Given the description of an element on the screen output the (x, y) to click on. 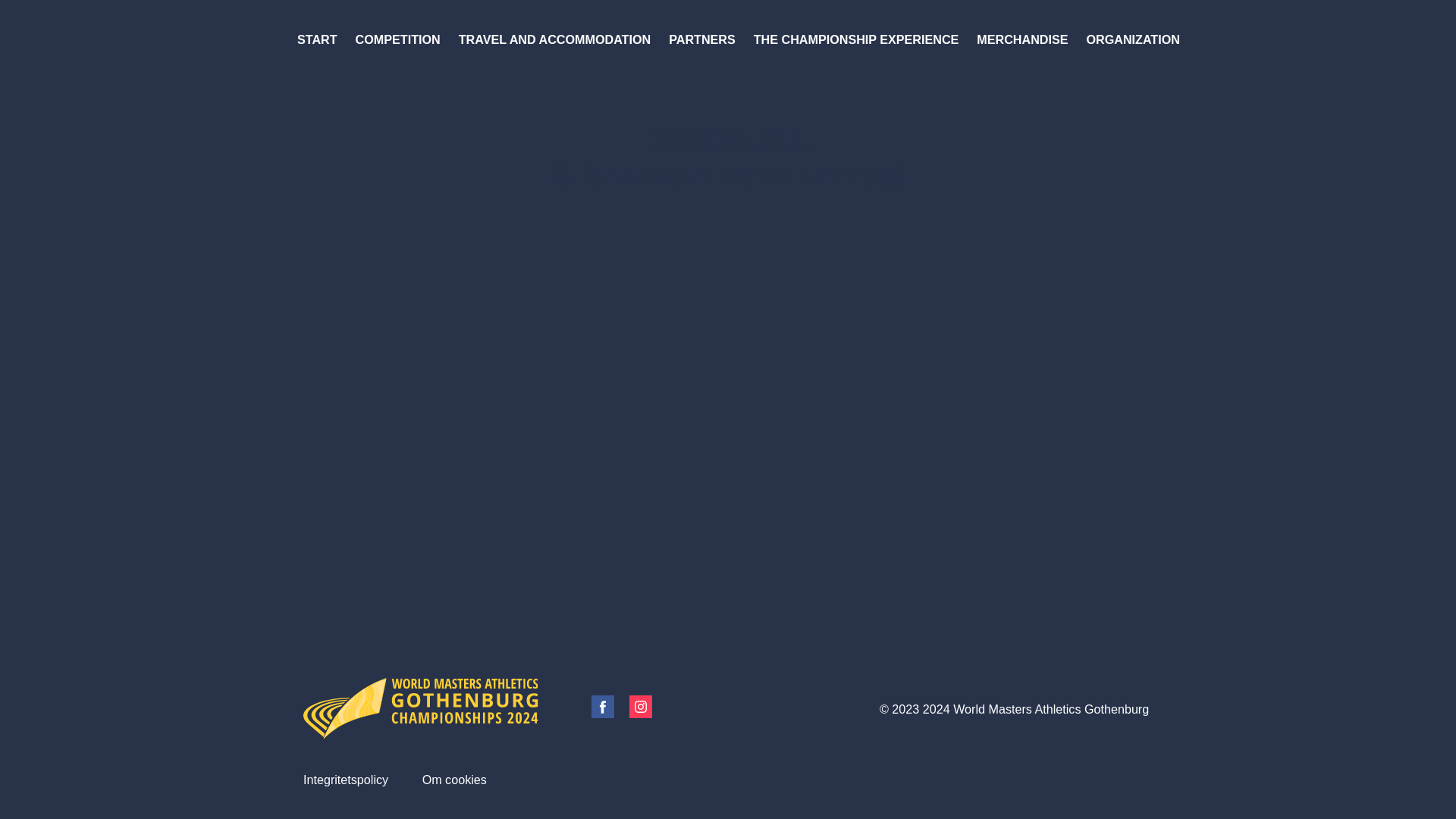
COMPETITION Element type: text (397, 39)
TRAVEL AND ACCOMMODATION Element type: text (554, 39)
MERCHANDISE Element type: text (1021, 39)
START Element type: text (317, 39)
Integritetspolicy Element type: text (345, 779)
PARTNERS Element type: text (701, 39)
Om cookies Element type: text (454, 779)
ORGANIZATION Element type: text (1132, 39)
THE CHAMPIONSHIP EXPERIENCE Element type: text (856, 39)
